Given the description of an element on the screen output the (x, y) to click on. 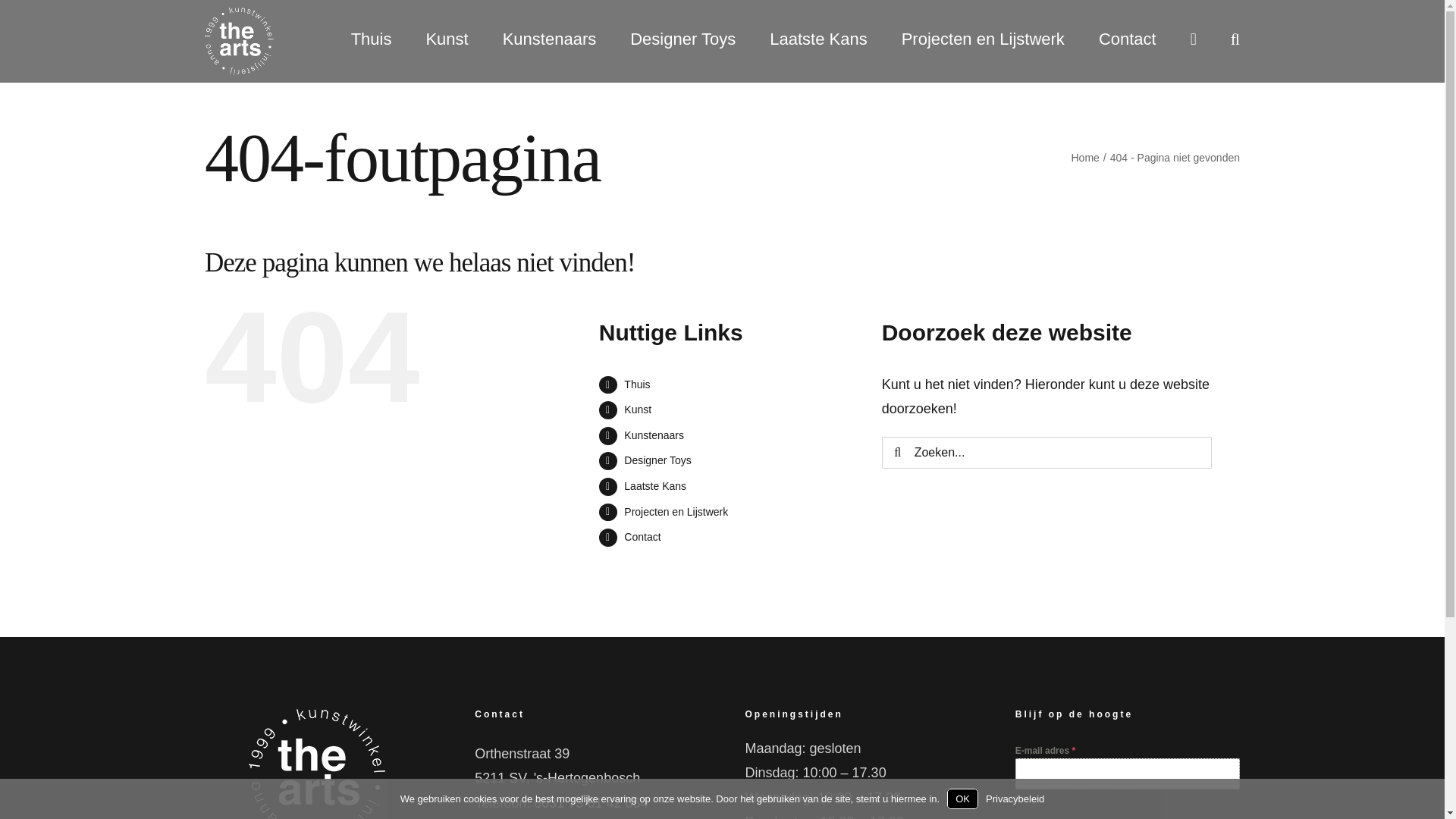
Designer Toys (682, 38)
Kunst (637, 409)
Designer Toys (657, 460)
Home (1084, 157)
Kunstenaars (654, 435)
Kunstenaars (549, 38)
Projecten en Lijstwerk (982, 38)
Kunst (446, 38)
Thuis (370, 38)
0031 73 61 42 854 (590, 802)
Contact (642, 536)
Laatste Kans (654, 485)
Thuis (636, 384)
Contact (1127, 38)
Projecten en Lijstwerk (676, 511)
